Given the description of an element on the screen output the (x, y) to click on. 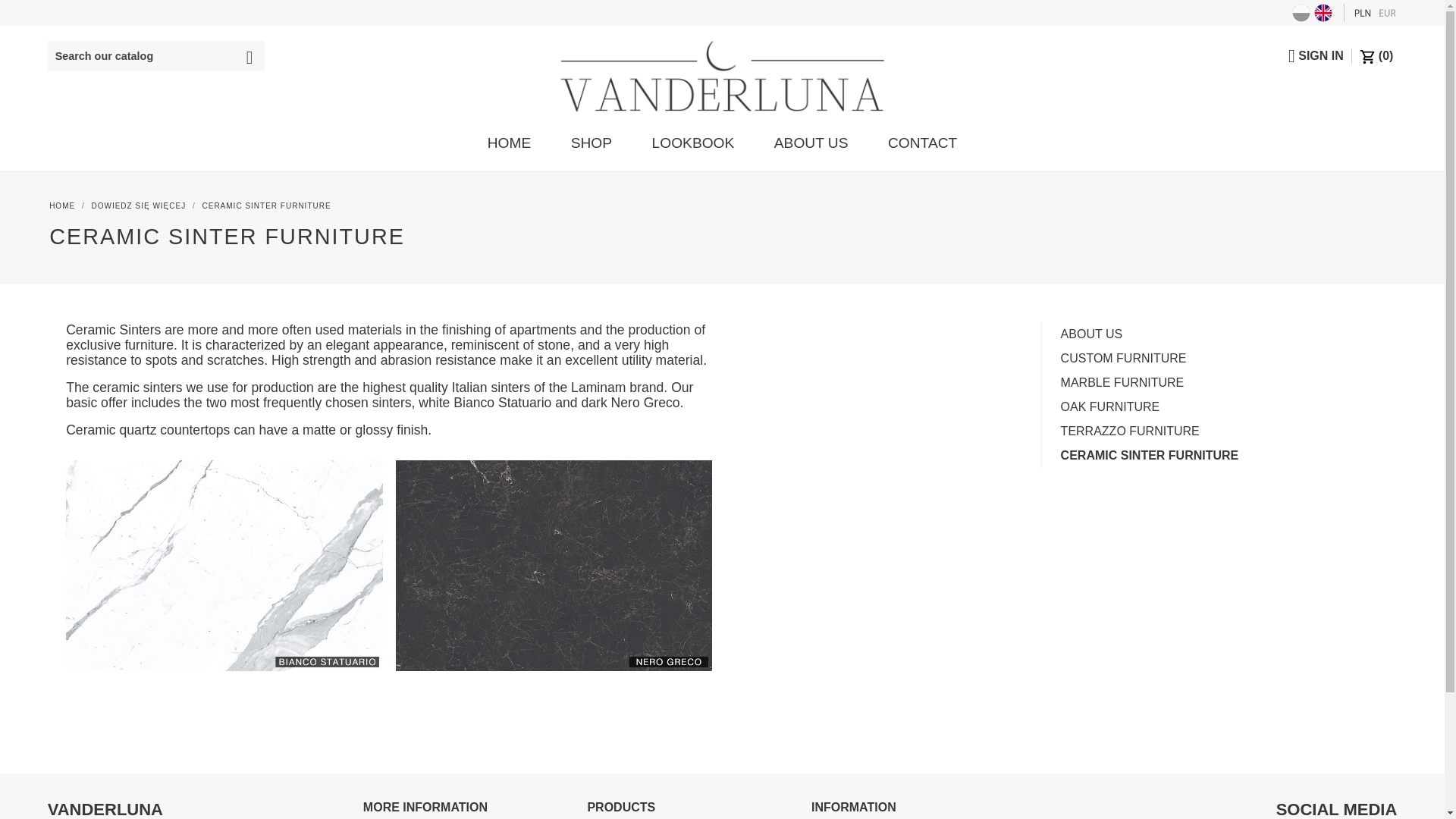
LOOKBOOK (692, 143)
HOME (509, 143)
CONTACT (922, 143)
ABOUT US (810, 143)
Log in to your customer account (1309, 55)
SHOP (591, 143)
